Given the description of an element on the screen output the (x, y) to click on. 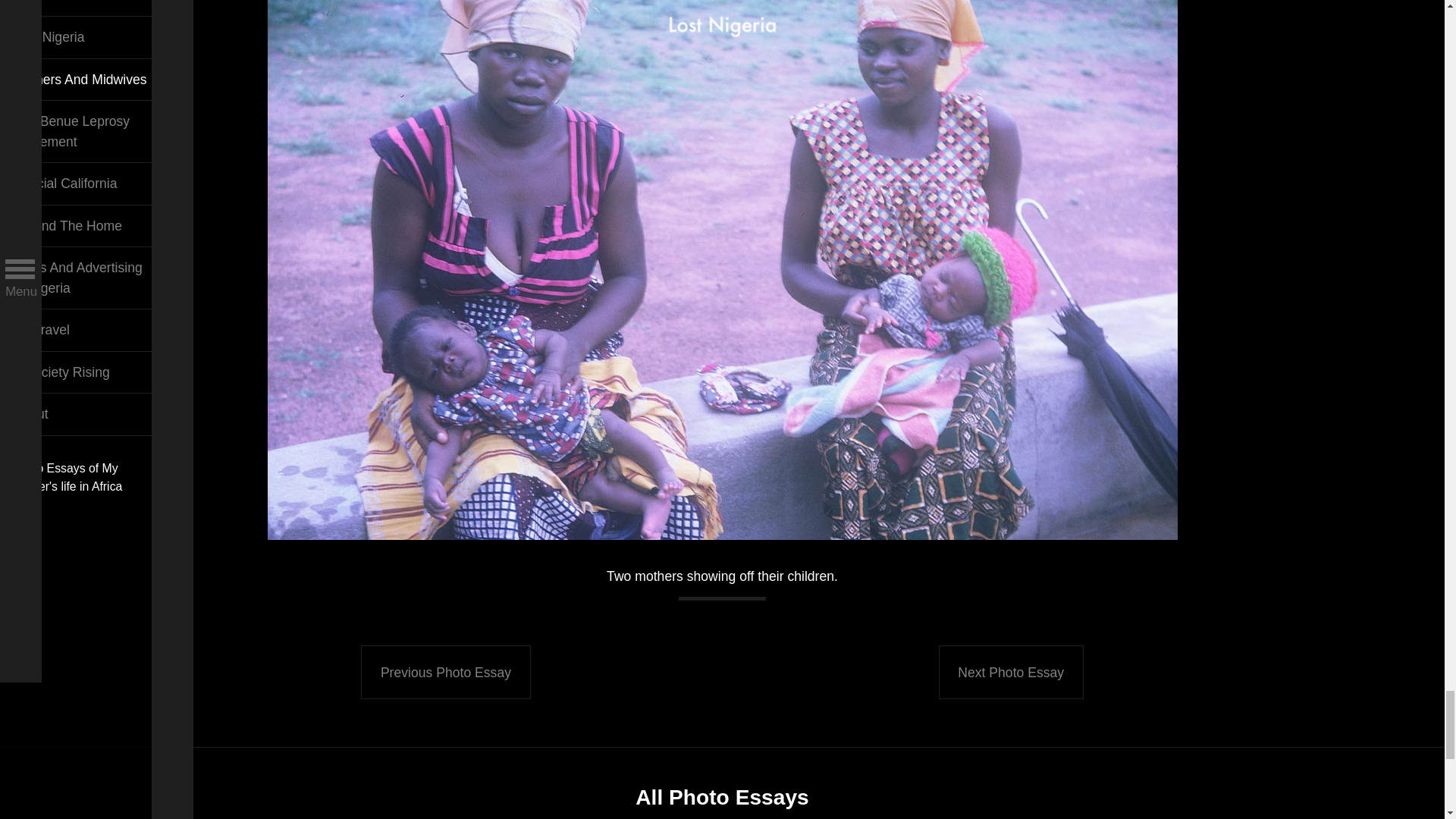
Previous Photo Essay (445, 671)
Next Photo Essay (1011, 671)
